Given the description of an element on the screen output the (x, y) to click on. 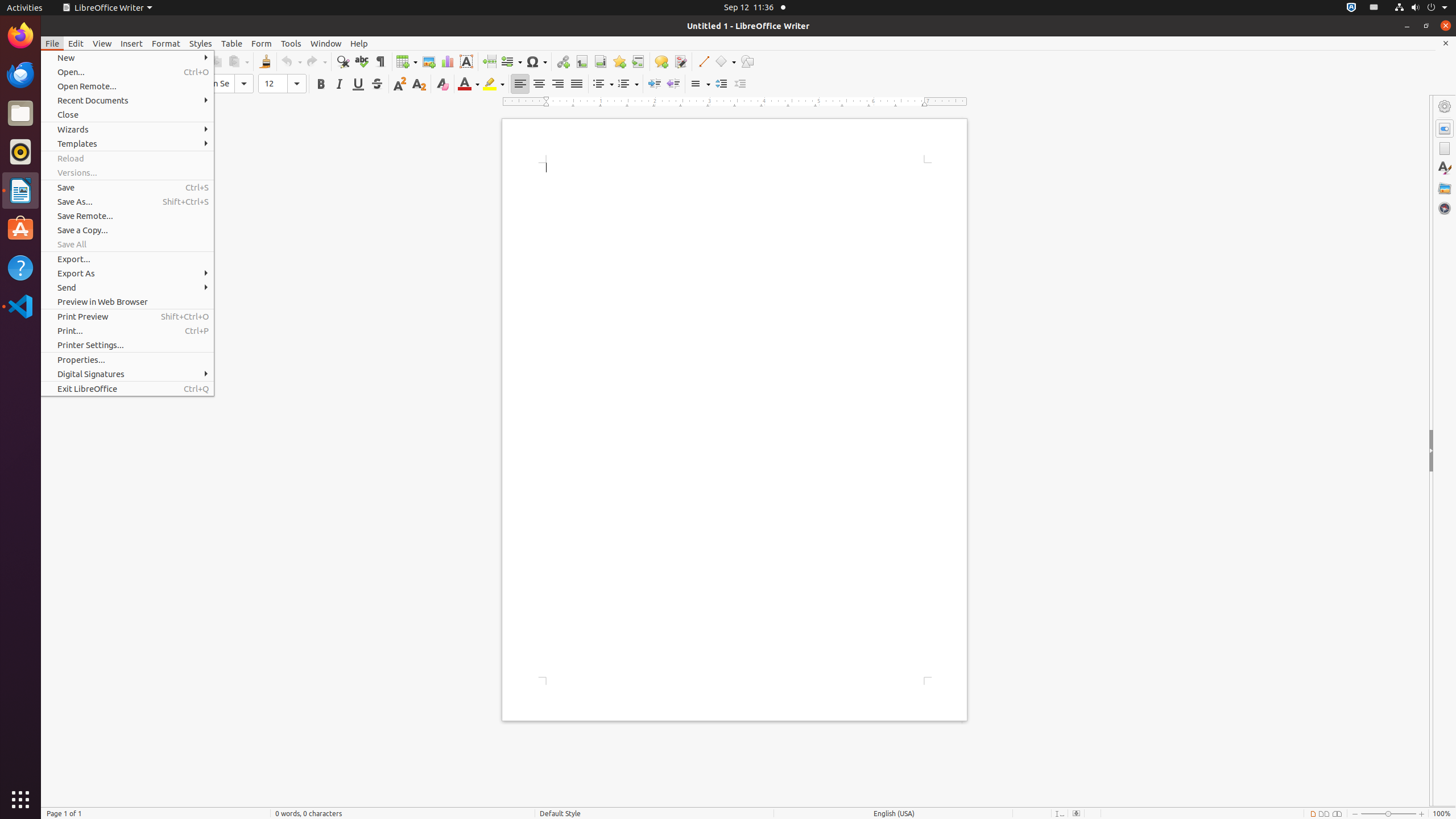
Help Element type: menu (358, 43)
LibreOffice Writer Element type: menu (106, 7)
Open... Element type: menu-item (126, 71)
Bullets Element type: push-button (602, 83)
Field Element type: push-button (510, 61)
